Given the description of an element on the screen output the (x, y) to click on. 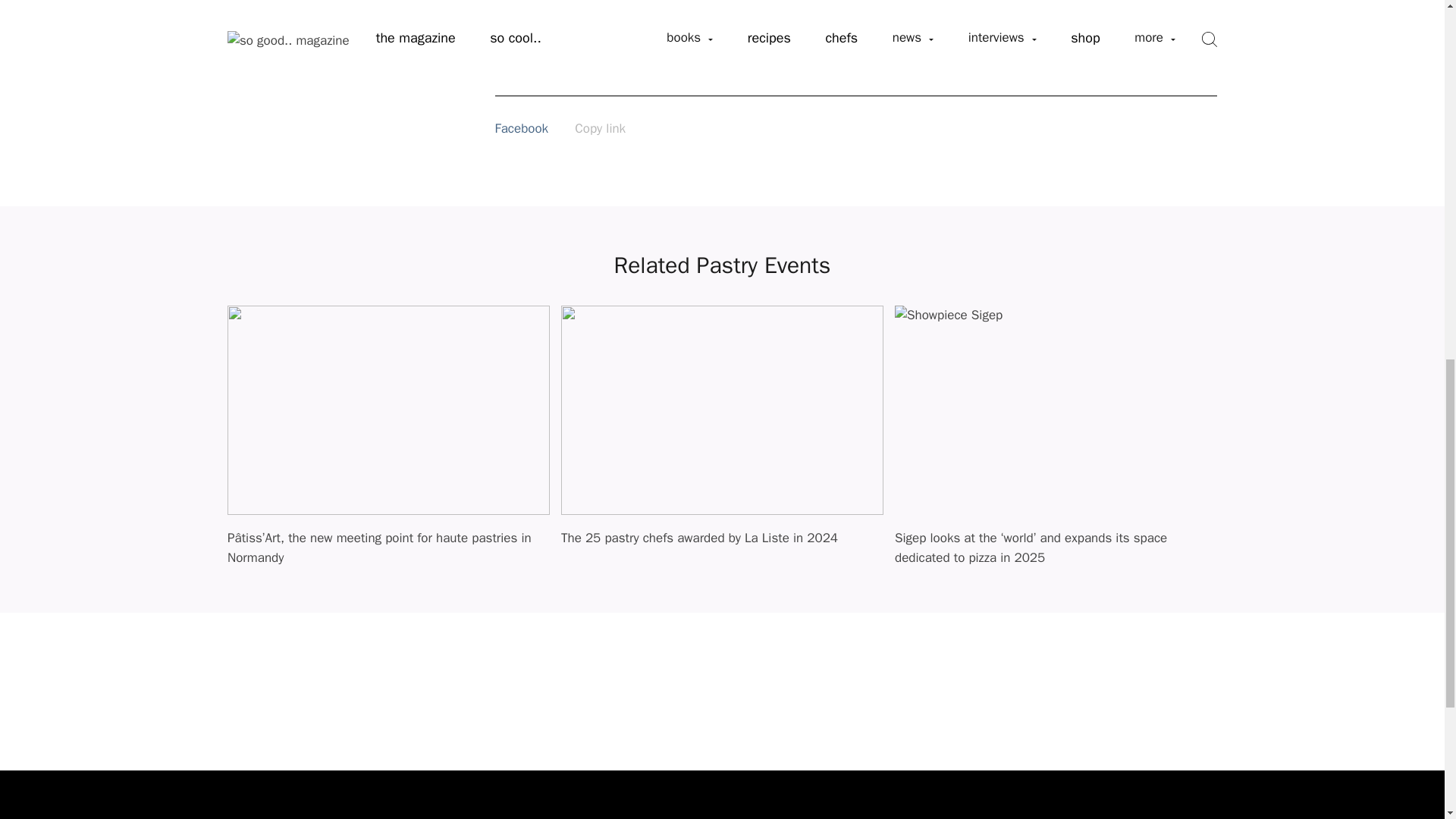
The 25 pastry chefs awarded by La Liste in 2024 (721, 546)
Copy link (600, 128)
Facebook (532, 128)
